Given the description of an element on the screen output the (x, y) to click on. 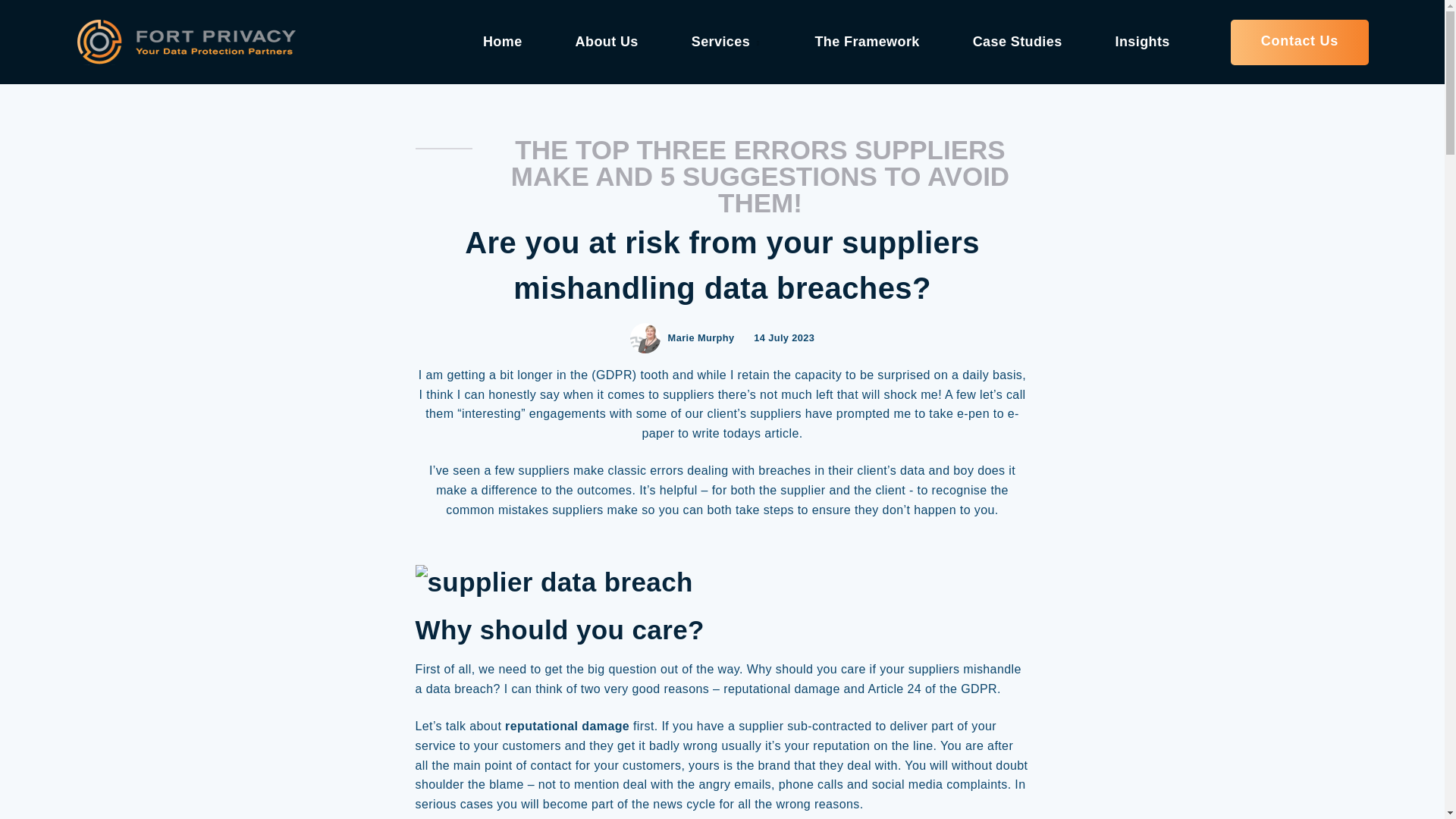
Case Studies (1017, 41)
Services (726, 41)
About Us (607, 41)
Contact Us (1299, 42)
Insights (1142, 41)
Contact Us (1299, 42)
The Framework (865, 41)
